Given the description of an element on the screen output the (x, y) to click on. 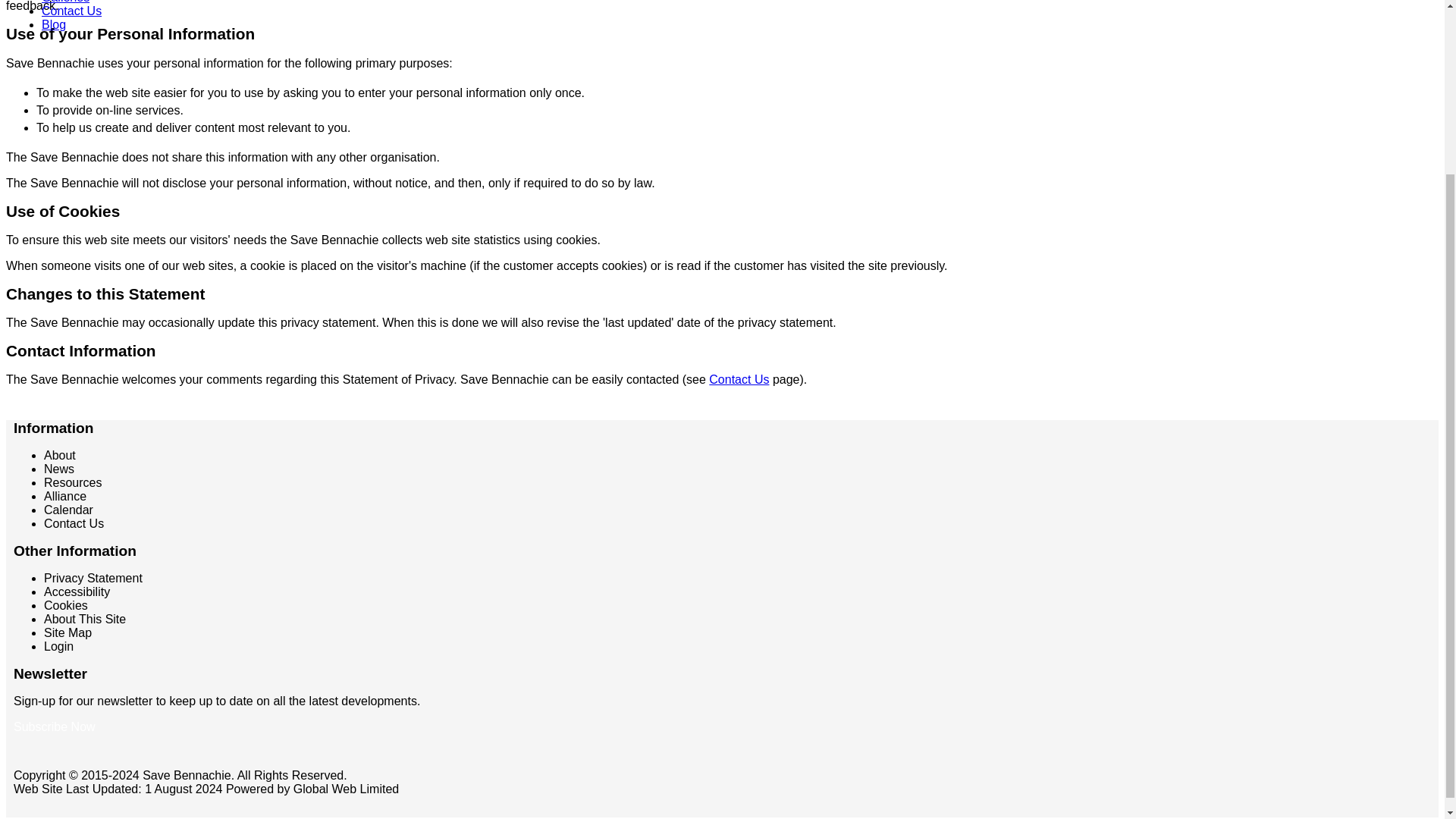
Global Web Limited (346, 788)
About (59, 454)
Copyright (39, 775)
Galleries (65, 2)
Accessibility (76, 591)
Subscribe Now (54, 726)
Privacy Statement (92, 577)
Blog (53, 24)
Resources (72, 481)
Cookies (65, 604)
Contact Us (71, 10)
Site Map (67, 632)
Contact Us (73, 522)
Login (58, 645)
Contact Us (738, 379)
